Given the description of an element on the screen output the (x, y) to click on. 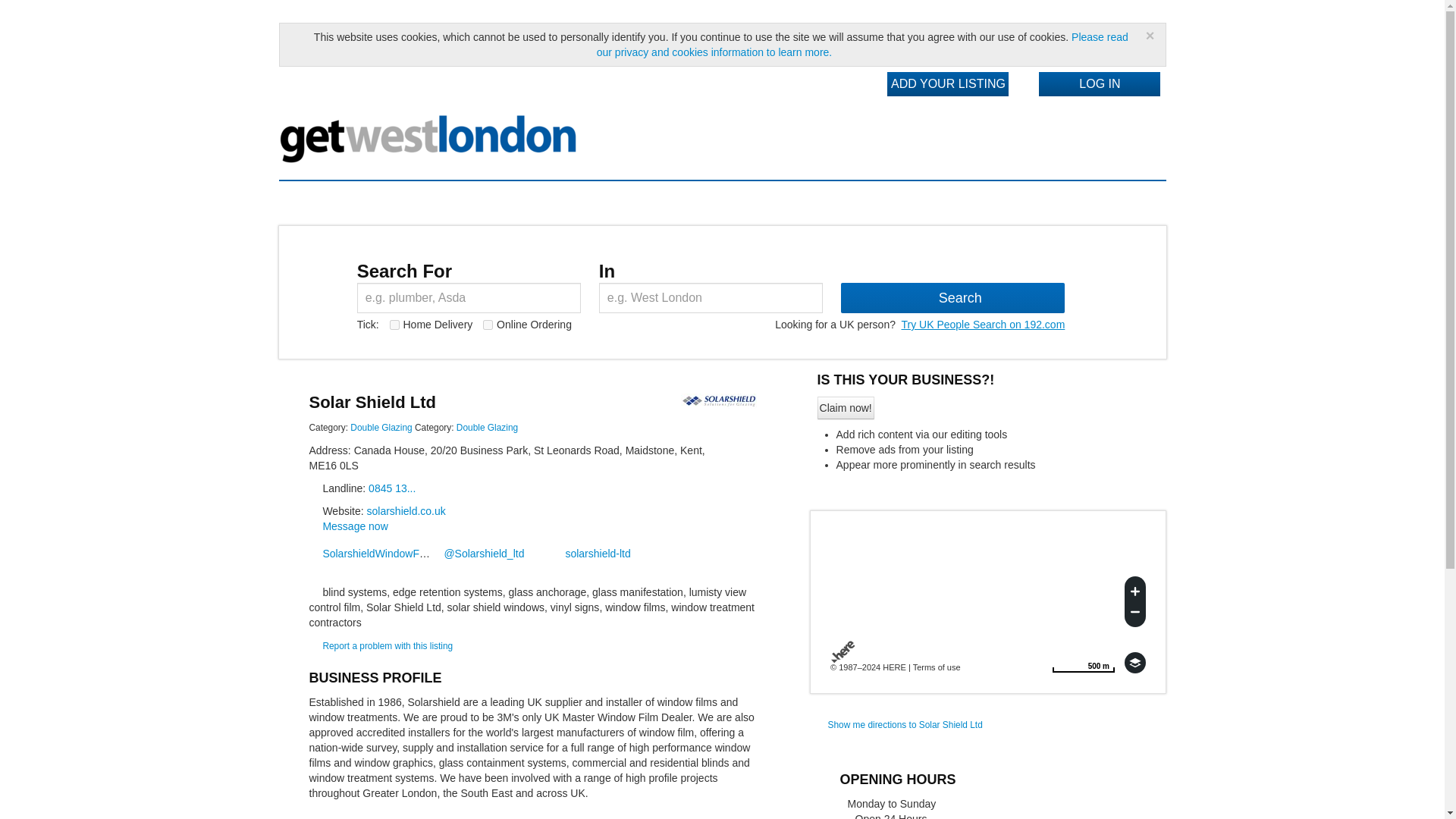
ADD YOUR LISTING (947, 84)
Report a problem with this listing (386, 645)
Double Glazing (381, 427)
Double Glazing (487, 427)
0845 13... (391, 488)
Choose view (1134, 662)
Search (952, 297)
click to show number (391, 488)
Terms of use (936, 666)
Message now (354, 526)
show me more (1083, 662)
on (381, 427)
solarshield-ltd (394, 325)
solarshield.co.uk (590, 553)
